Given the description of an element on the screen output the (x, y) to click on. 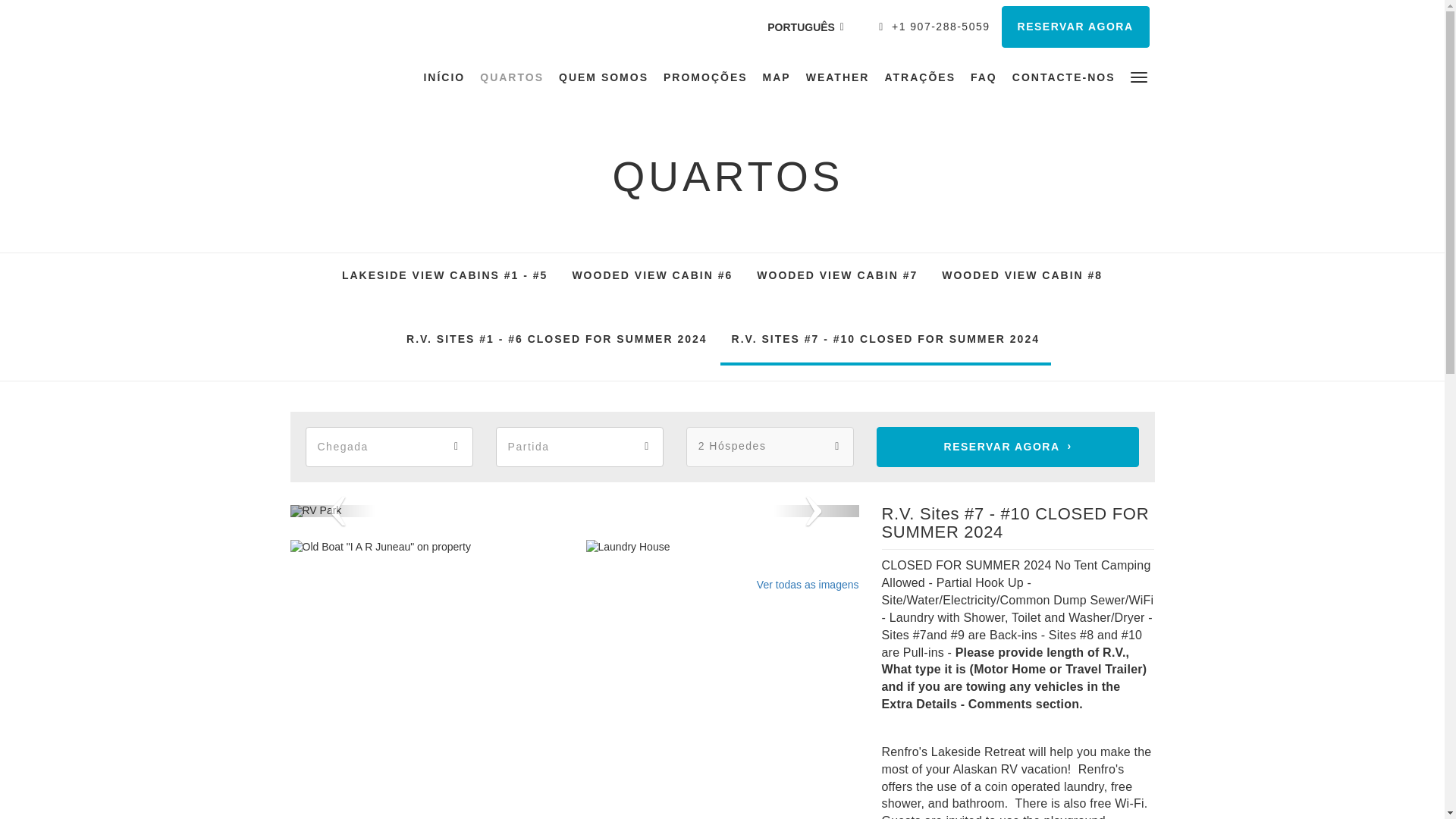
QUEM SOMOS (603, 77)
CONTACTE-NOS (1063, 77)
QUARTOS (511, 77)
MAP (776, 77)
RESERVAR AGORA (1075, 26)
WEATHER (837, 77)
